Given the description of an element on the screen output the (x, y) to click on. 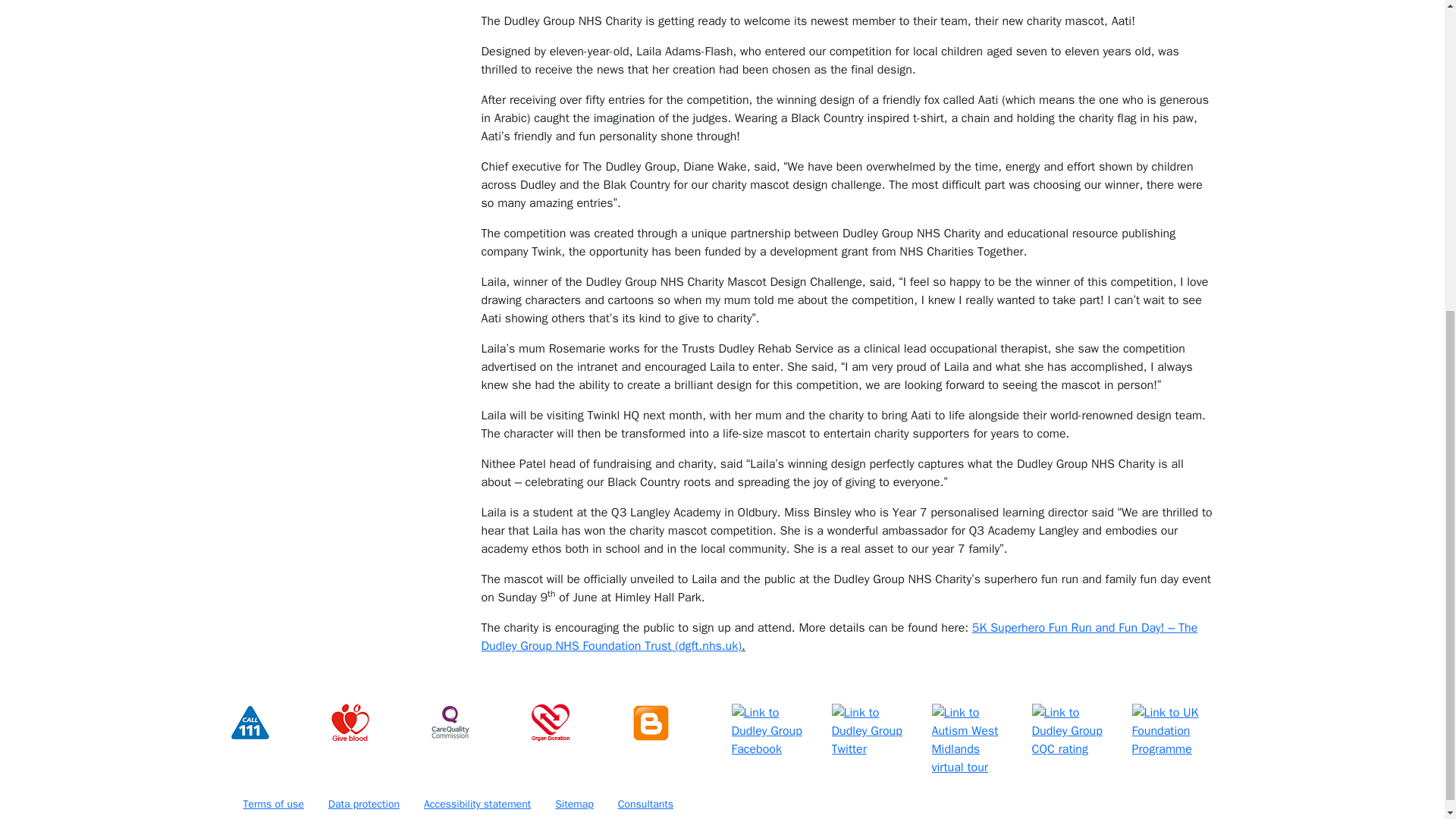
NHS Organ Donation (550, 722)
Dudley Group Twitter (871, 730)
Autism West Midlands virtual tour (972, 739)
Dudley Group CQC rating (1071, 730)
NHS England 111 (248, 722)
Dudley Group directors' blog (649, 722)
Dudley Group Facebook (771, 730)
NHS Blood Donation (349, 722)
UK Foundation Programme (1171, 730)
CQC (449, 722)
